Given the description of an element on the screen output the (x, y) to click on. 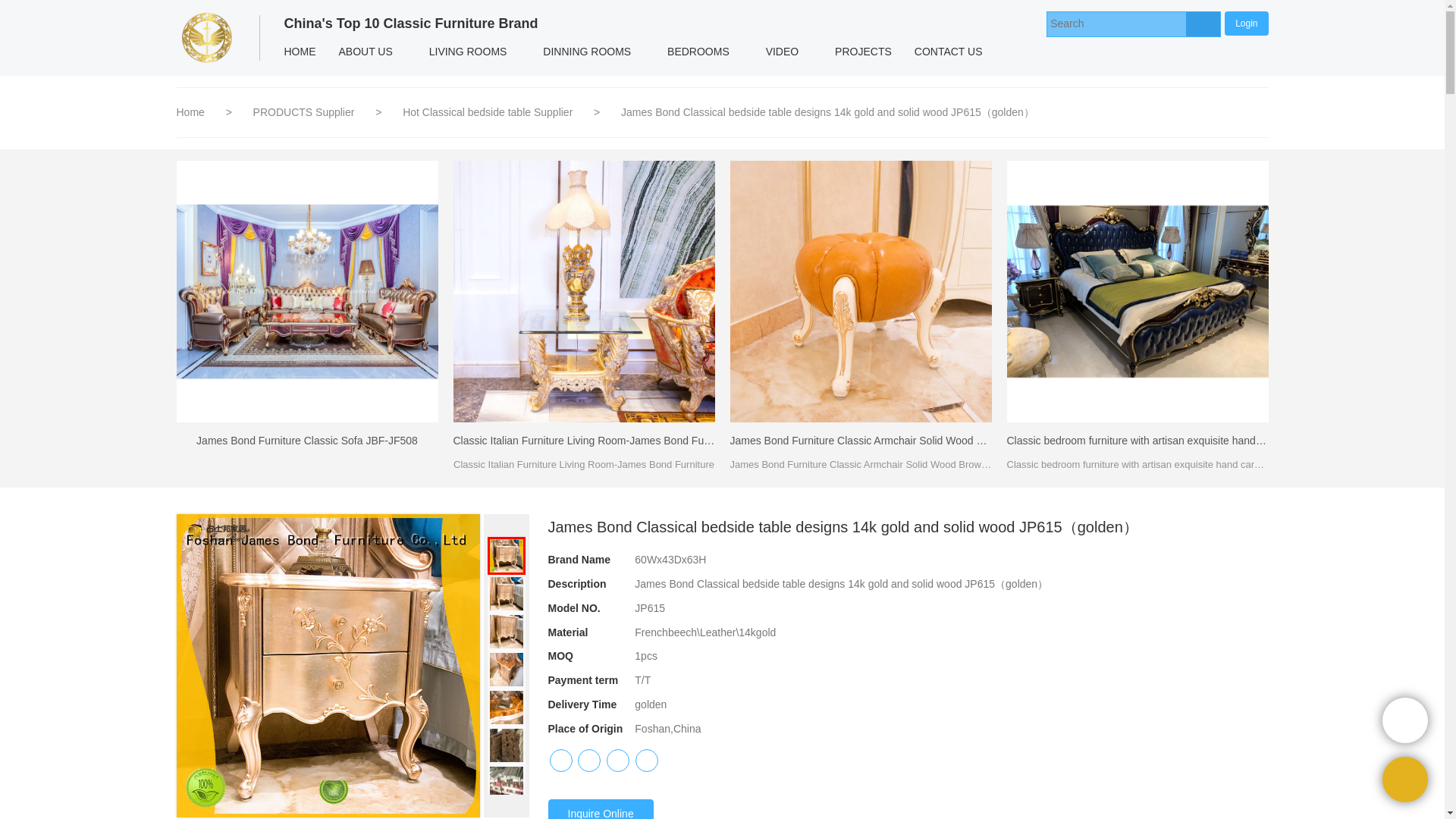
PRODUCTS Supplier (305, 111)
PROJECTS (863, 51)
ABOUT US (365, 51)
HOME (300, 51)
DINNING ROOMS (586, 51)
Hot Classical bedside table Supplier (489, 111)
VIDEO (782, 51)
CONTACT US (948, 51)
Home (189, 111)
BEDROOMS (698, 51)
LIVING ROOMS (467, 51)
Login (1245, 23)
